Given the description of an element on the screen output the (x, y) to click on. 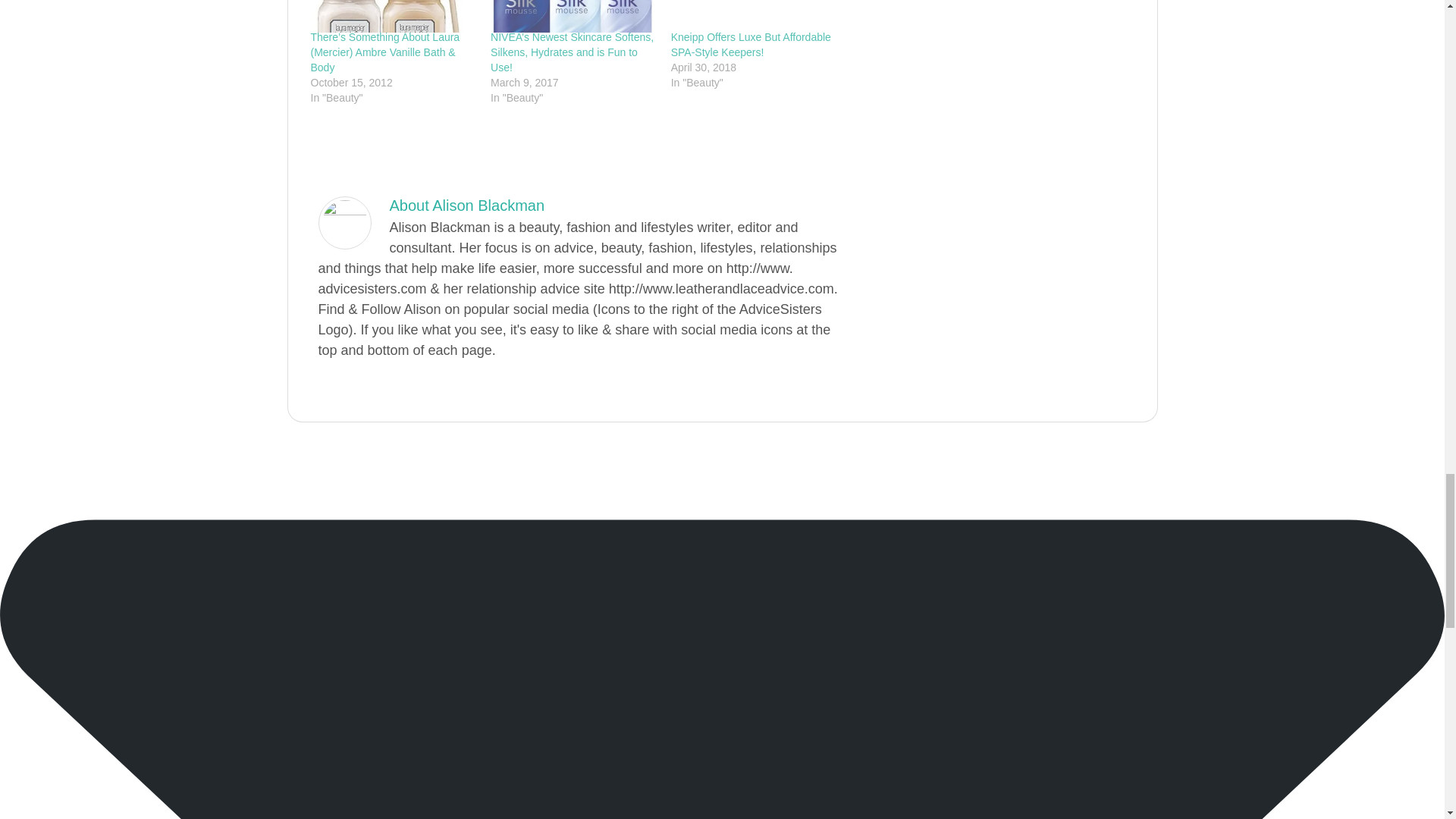
Kneipp Offers Luxe But Affordable SPA-Style Keepers! (753, 16)
Kneipp Offers Luxe But Affordable SPA-Style Keepers! (751, 44)
